Given the description of an element on the screen output the (x, y) to click on. 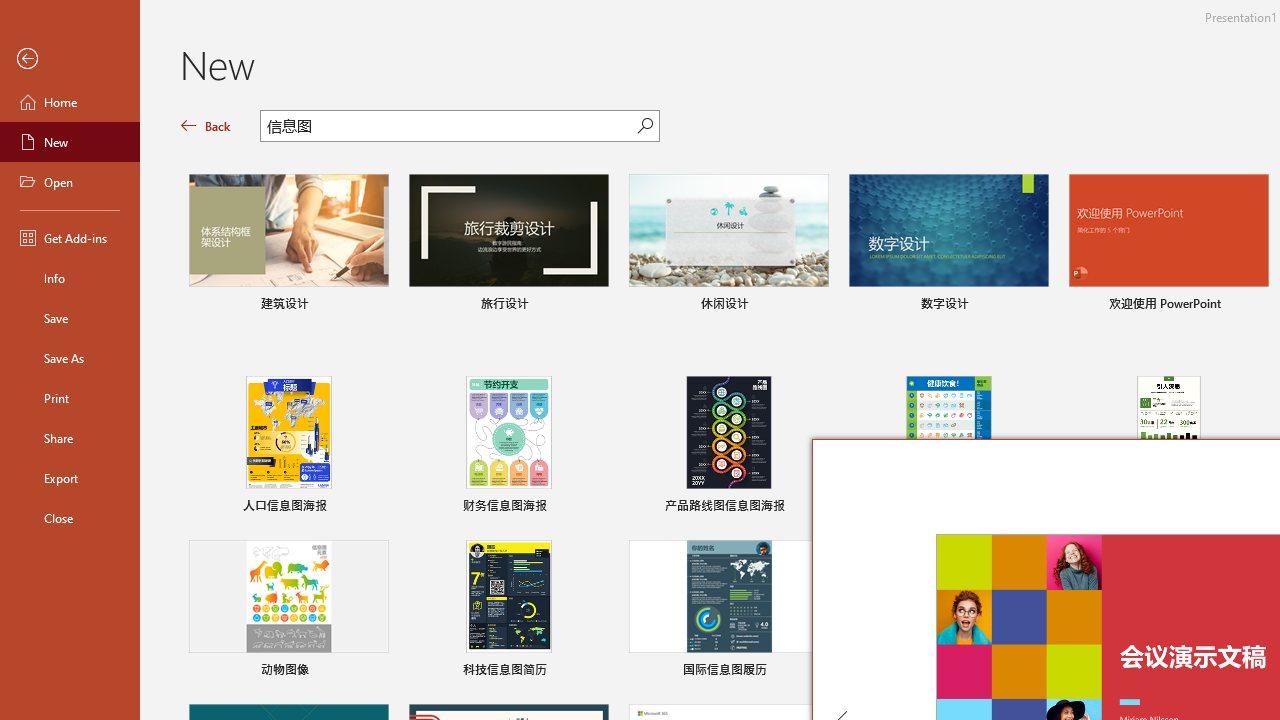
Get Add-ins (69, 237)
Info (69, 277)
New (69, 141)
Search for online templates and themes (449, 128)
Back (69, 59)
Save As (69, 357)
Pin to list (595, 671)
